Given the description of an element on the screen output the (x, y) to click on. 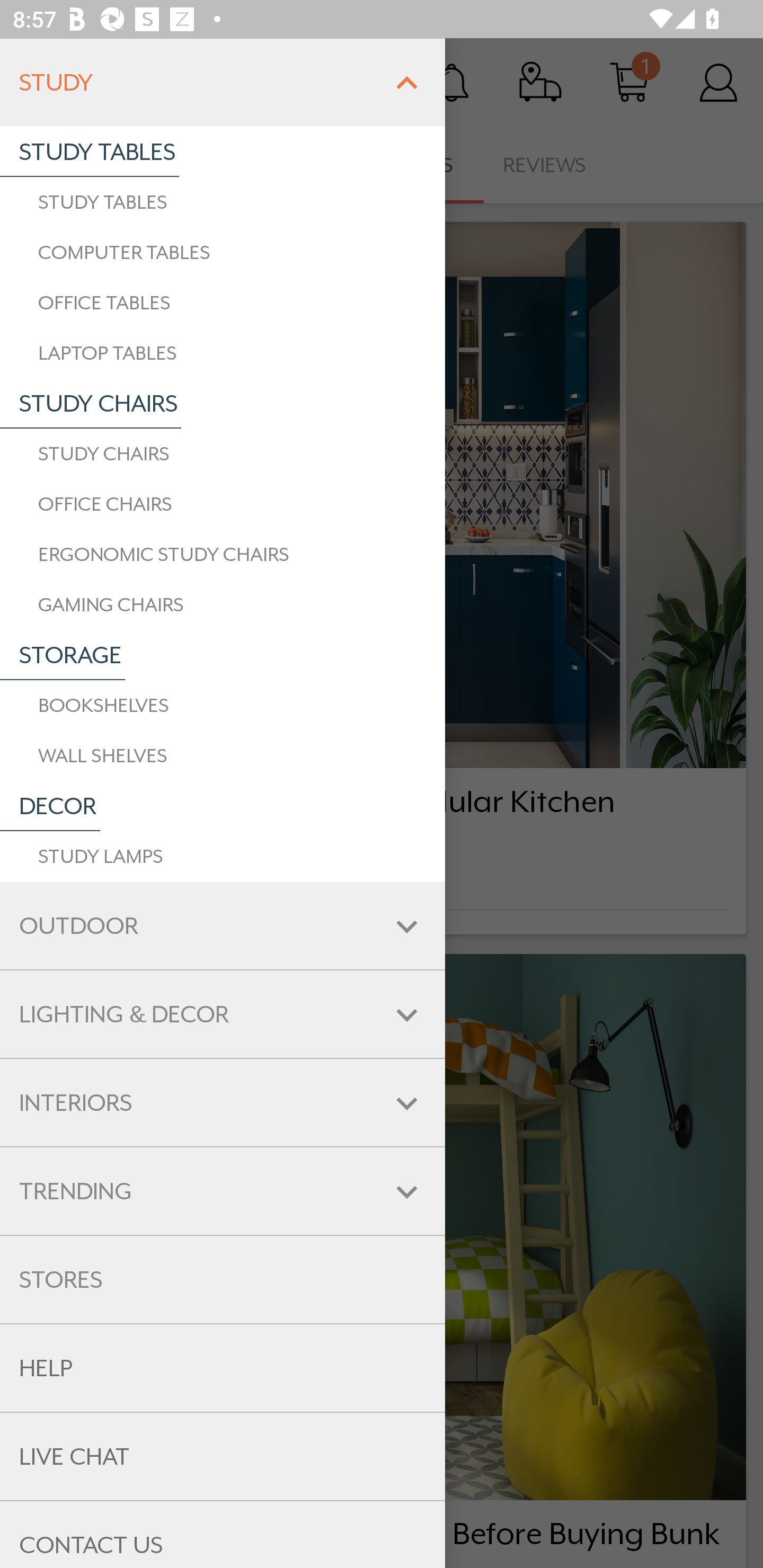
STUDY  (222, 82)
STUDY TABLES (89, 151)
STUDY TABLES (222, 202)
COMPUTER TABLES (222, 252)
OFFICE TABLES (222, 302)
LAPTOP TABLES (222, 353)
STUDY CHAIRS (90, 403)
STUDY CHAIRS (222, 453)
OFFICE CHAIRS (222, 503)
ERGONOMIC STUDY CHAIRS (222, 554)
GAMING CHAIRS (222, 605)
STORAGE (62, 655)
BOOKSHELVES (222, 705)
WALL SHELVES (222, 755)
DECOR (49, 805)
STUDY LAMPS (222, 856)
OUTDOOR  (222, 925)
LIGHTING & DECOR  (222, 1014)
INTERIORS  (222, 1102)
TRENDING  (222, 1190)
STORES (222, 1279)
HELP (222, 1367)
LIVE CHAT (222, 1456)
CONTACT US (222, 1534)
